Given the description of an element on the screen output the (x, y) to click on. 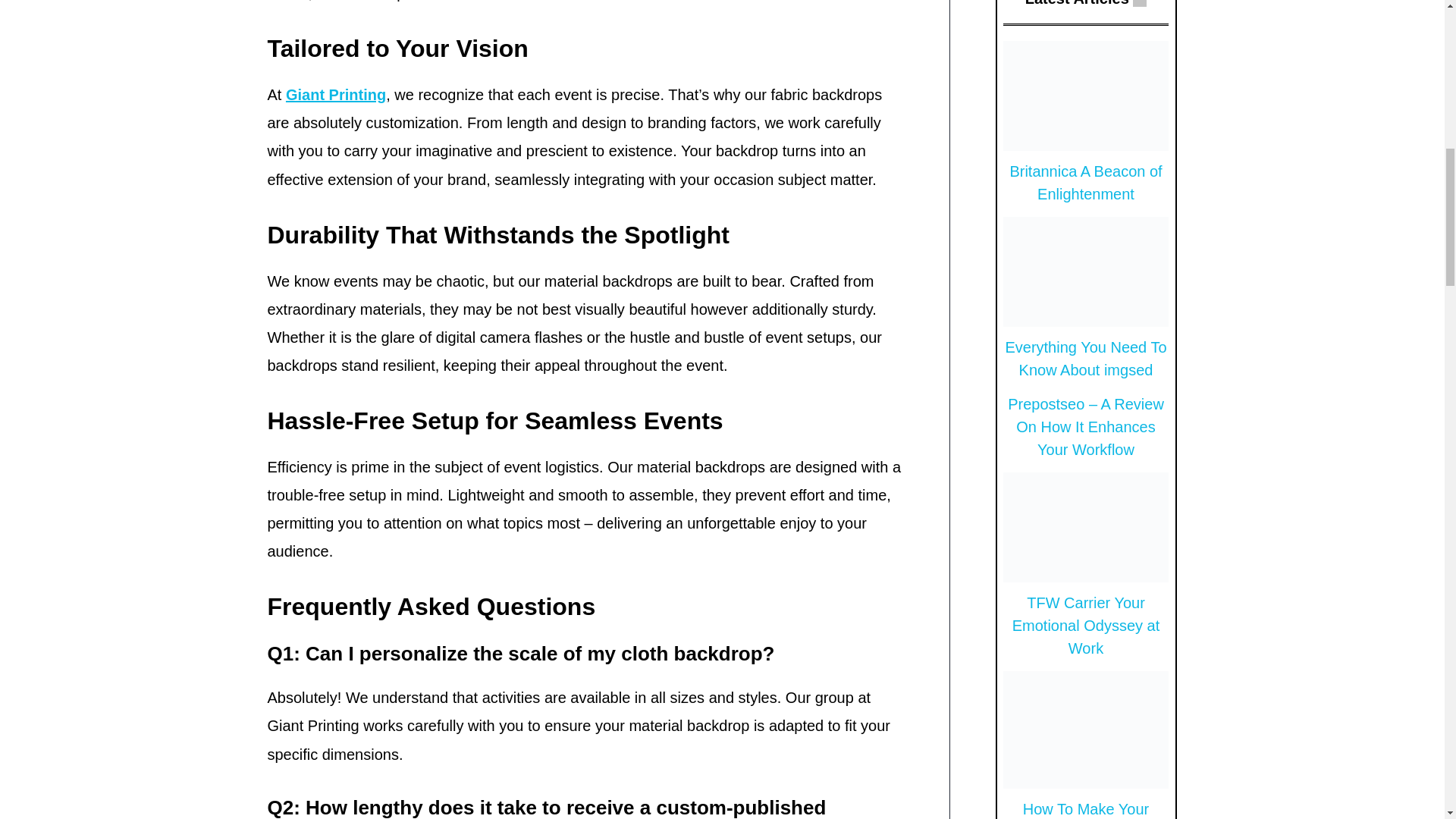
Giant Printing (335, 94)
